Given the description of an element on the screen output the (x, y) to click on. 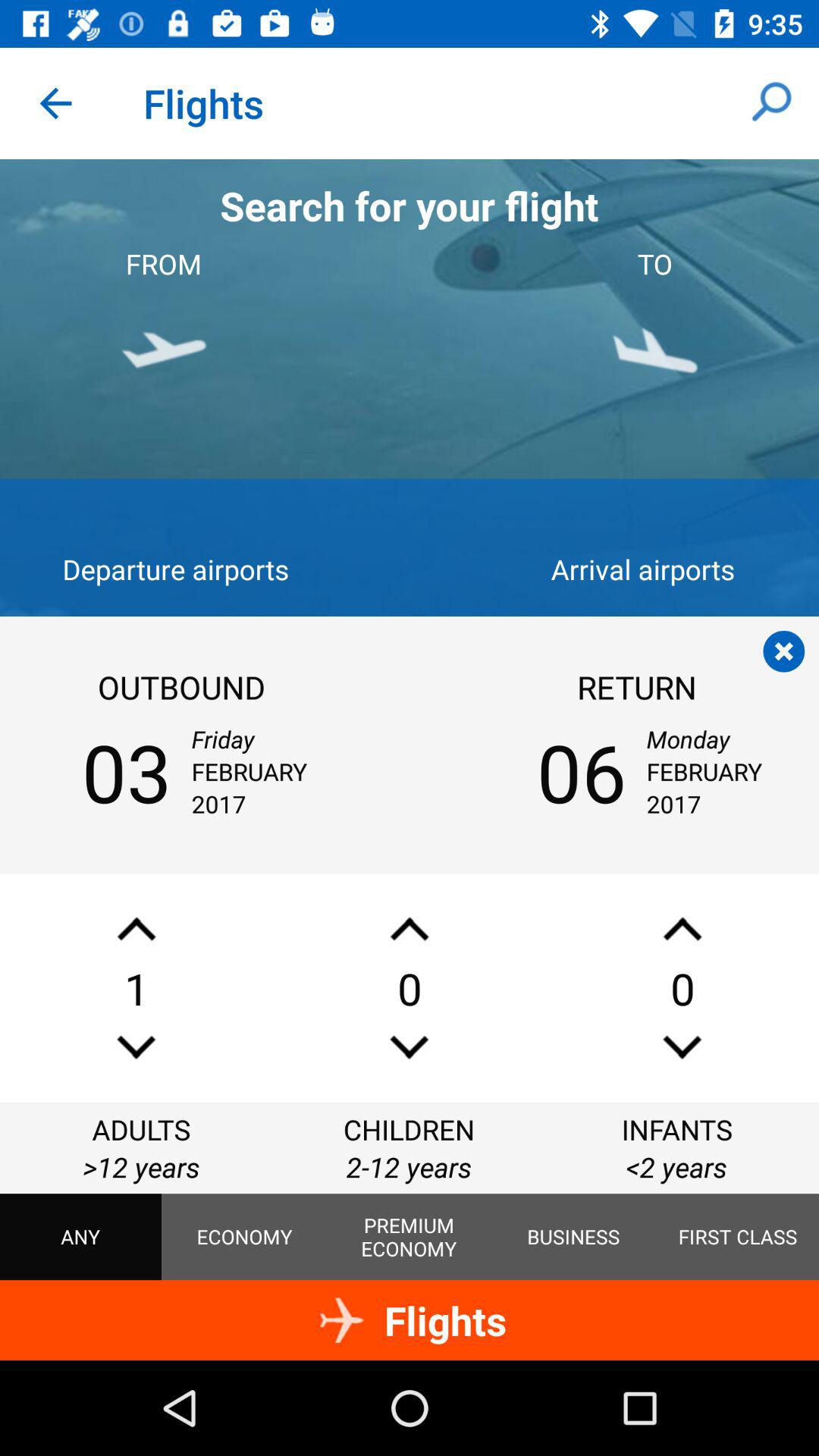
click to decrease number (682, 1047)
